Given the description of an element on the screen output the (x, y) to click on. 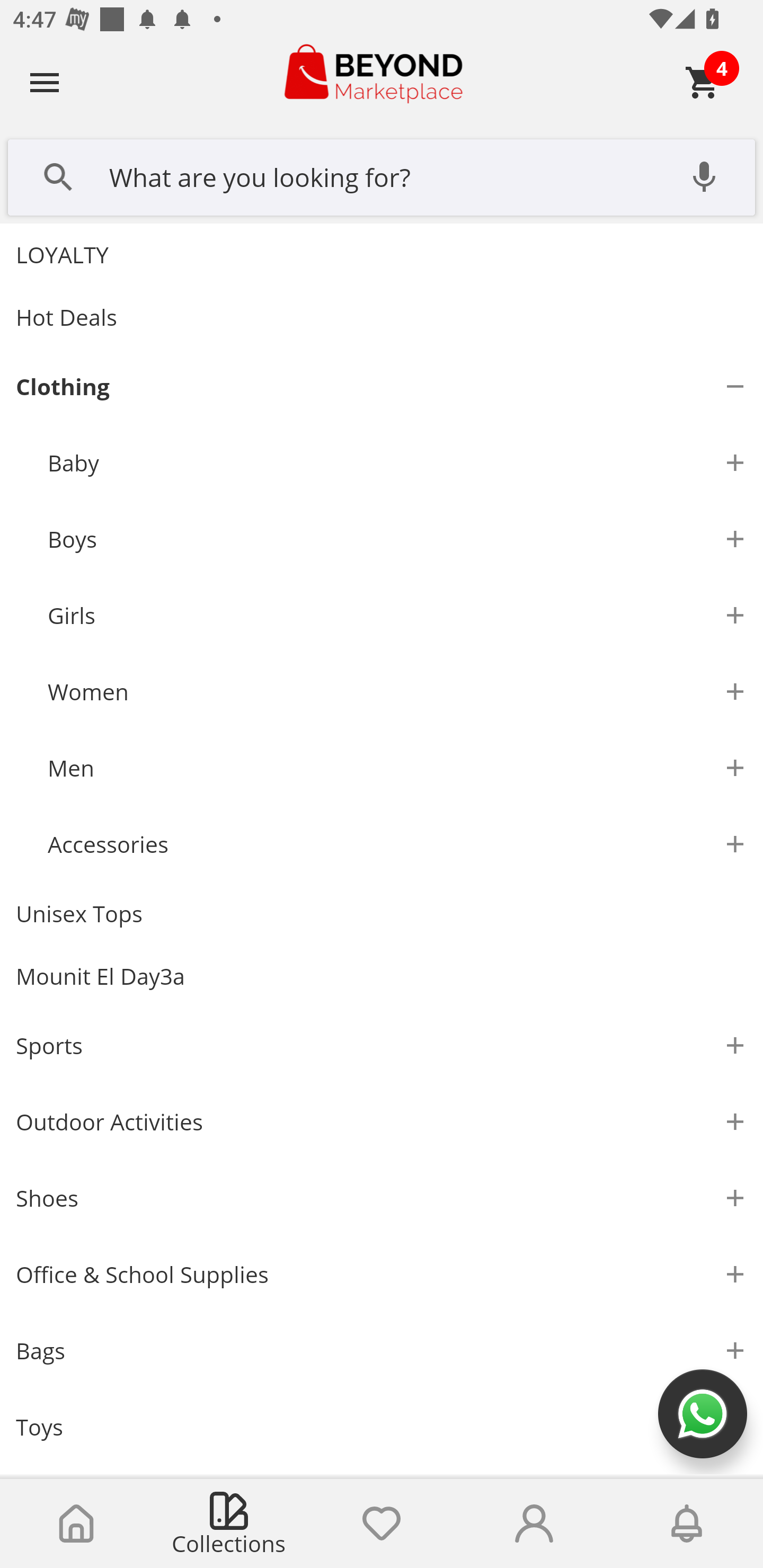
Navigate up (44, 82)
What are you looking for? (381, 175)
LOYALTY (381, 254)
Hot Deals (381, 316)
Clothing Baby Boys Girls Women Men Accessories (381, 615)
Baby (397, 462)
Boys (397, 539)
Girls (397, 615)
Women (397, 691)
Men (397, 767)
Accessories (397, 843)
Unisex Tops (381, 913)
Mounit El Day3a (381, 976)
Sports (381, 1045)
Outdoor Activities (381, 1121)
Shoes (381, 1198)
Office & School Supplies (381, 1274)
Bags (381, 1350)
Toys (381, 1426)
Home (76, 1523)
Wishlist (381, 1523)
Account (533, 1523)
Notifications (686, 1523)
